Given the description of an element on the screen output the (x, y) to click on. 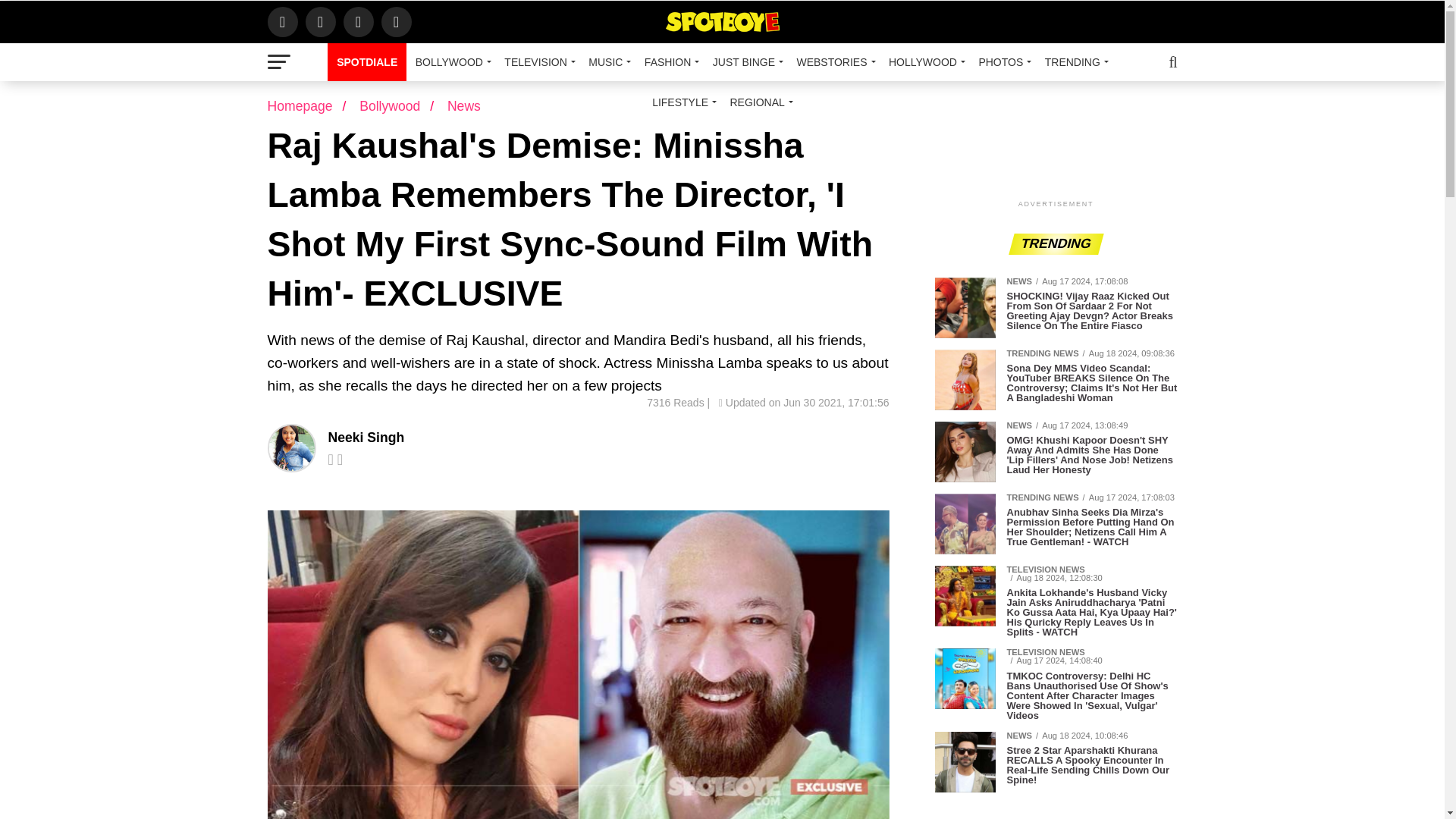
SPOTDIALE (366, 62)
JUST BINGE (745, 62)
REGIONAL (758, 102)
TRENDING (1074, 62)
HOLLYWOOD (924, 62)
LIFESTYLE (681, 102)
Posts by  Neeki Singh  (365, 437)
WEBSTORIES (833, 62)
BOLLYWOOD (451, 62)
FASHION (668, 62)
